Given the description of an element on the screen output the (x, y) to click on. 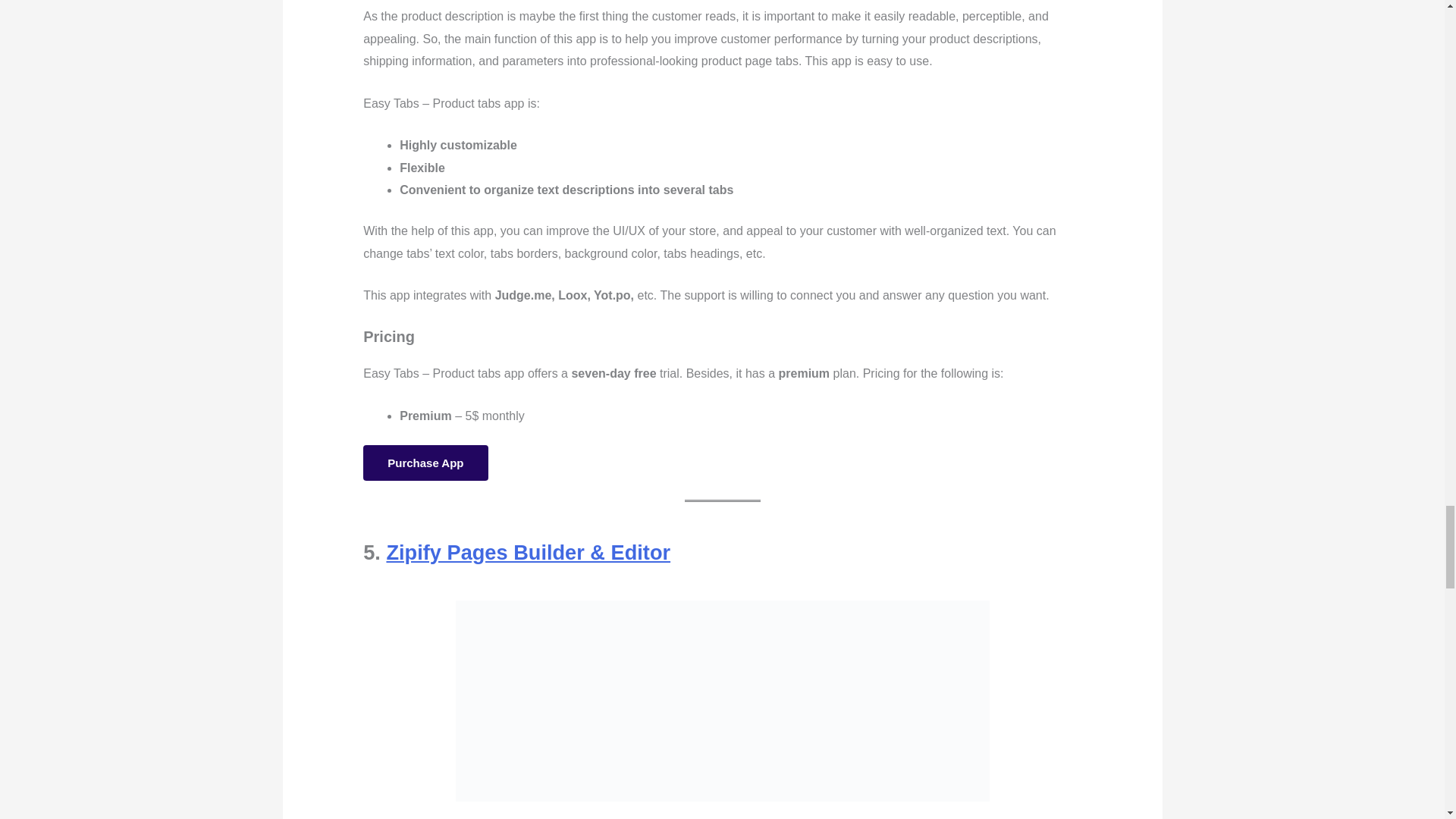
zipify-pages-builder-editor-shopify-app (721, 700)
